Given the description of an element on the screen output the (x, y) to click on. 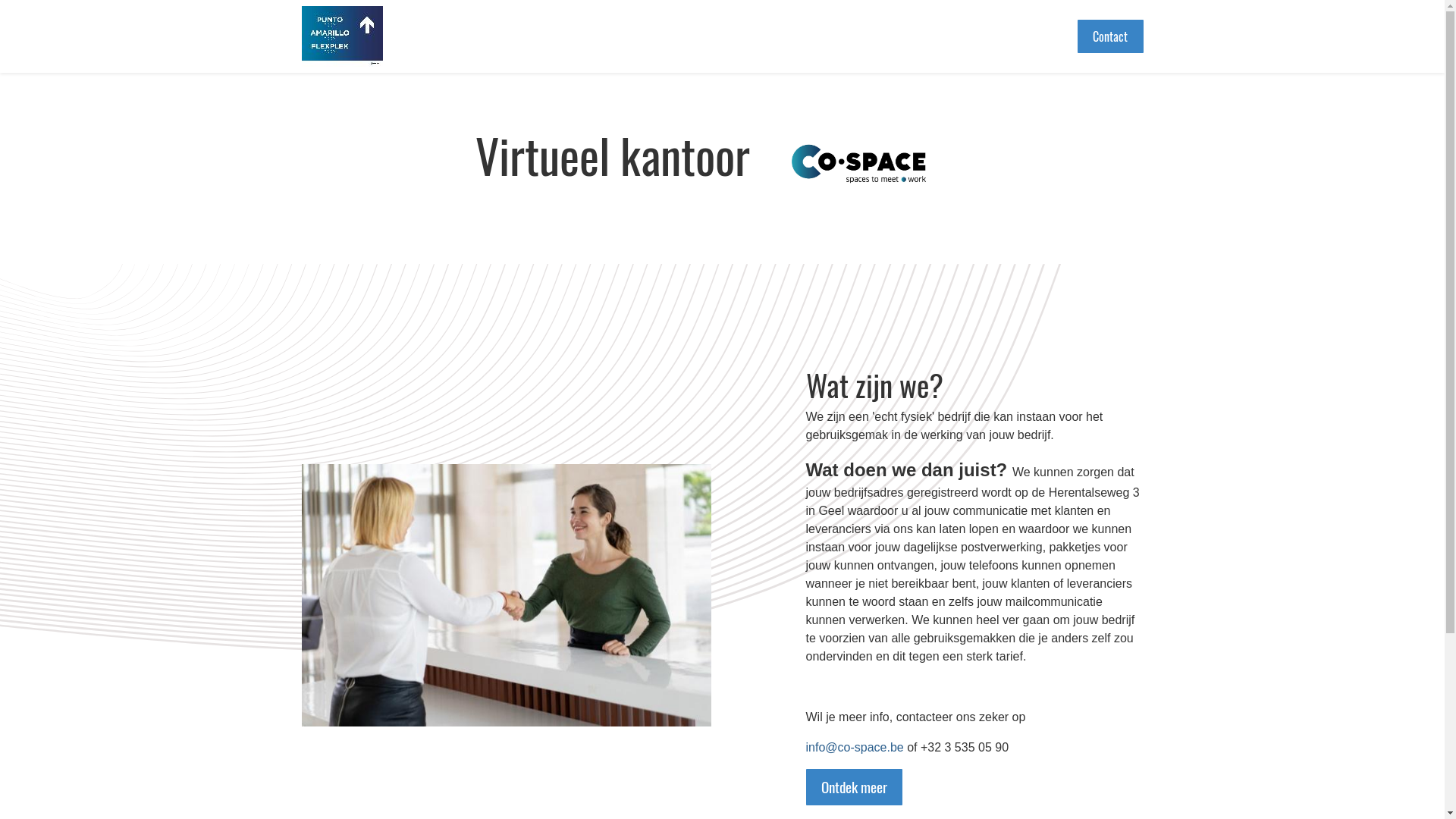
CO-SPACE meetingrooms Element type: hover (341, 36)
Ontdek meer Element type: text (853, 786)
Contact Element type: text (1110, 35)
info@co-space.be Element type: text (854, 746)
